Given the description of an element on the screen output the (x, y) to click on. 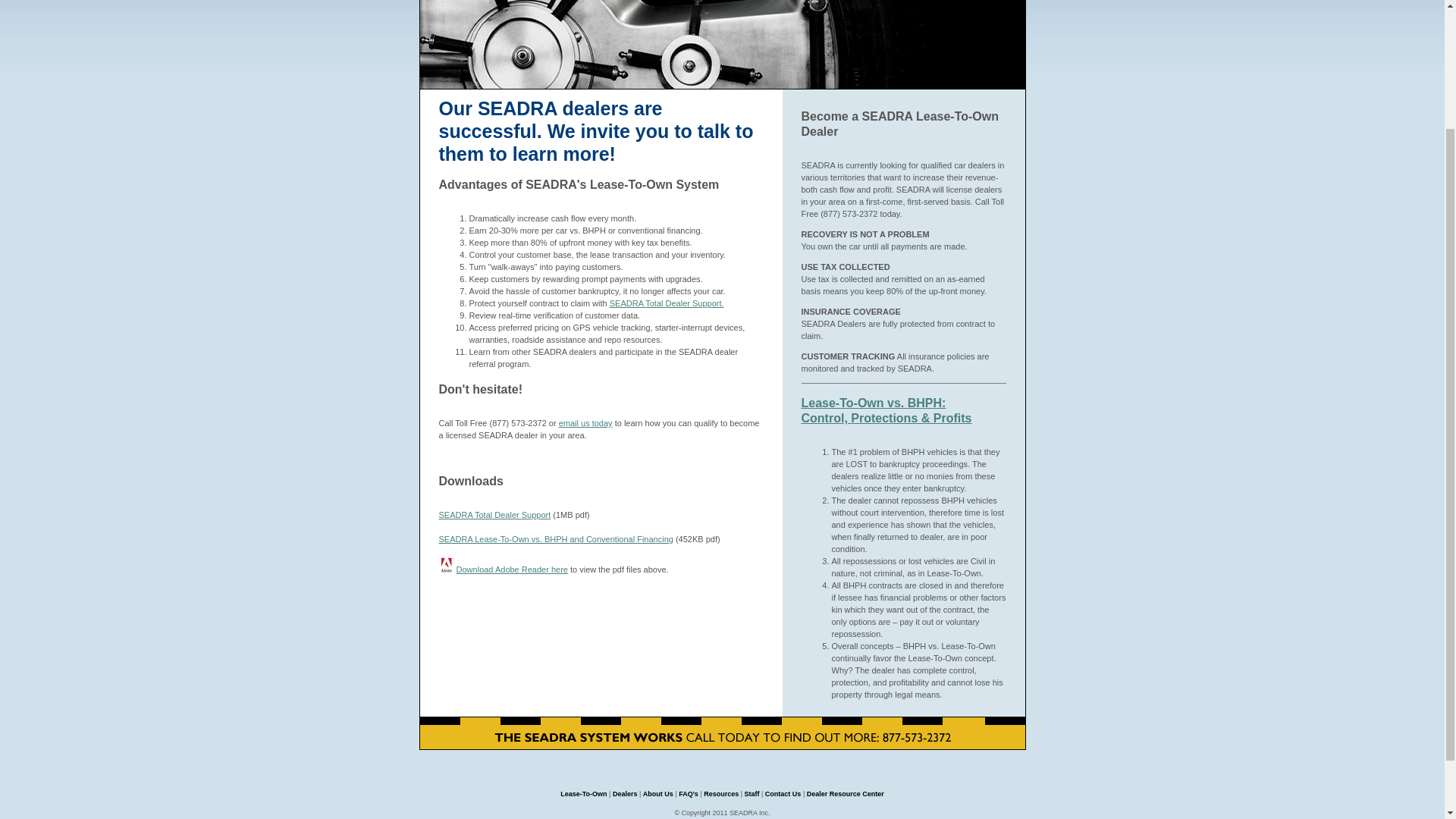
email us today (585, 422)
Lease-To-Own (583, 793)
FAQ's (688, 793)
Dealer Resource Center (844, 793)
SEADRA Total Dealer Support. (666, 302)
Staff (752, 793)
SEADRA Lease-To-Own vs. BHPH and Conventional Financing (555, 538)
About Us (657, 793)
Contact Us (783, 793)
Dealers (624, 793)
SEADRA Total Dealer Support (494, 514)
Download Adobe Reader here (512, 569)
Resources (720, 793)
